Given the description of an element on the screen output the (x, y) to click on. 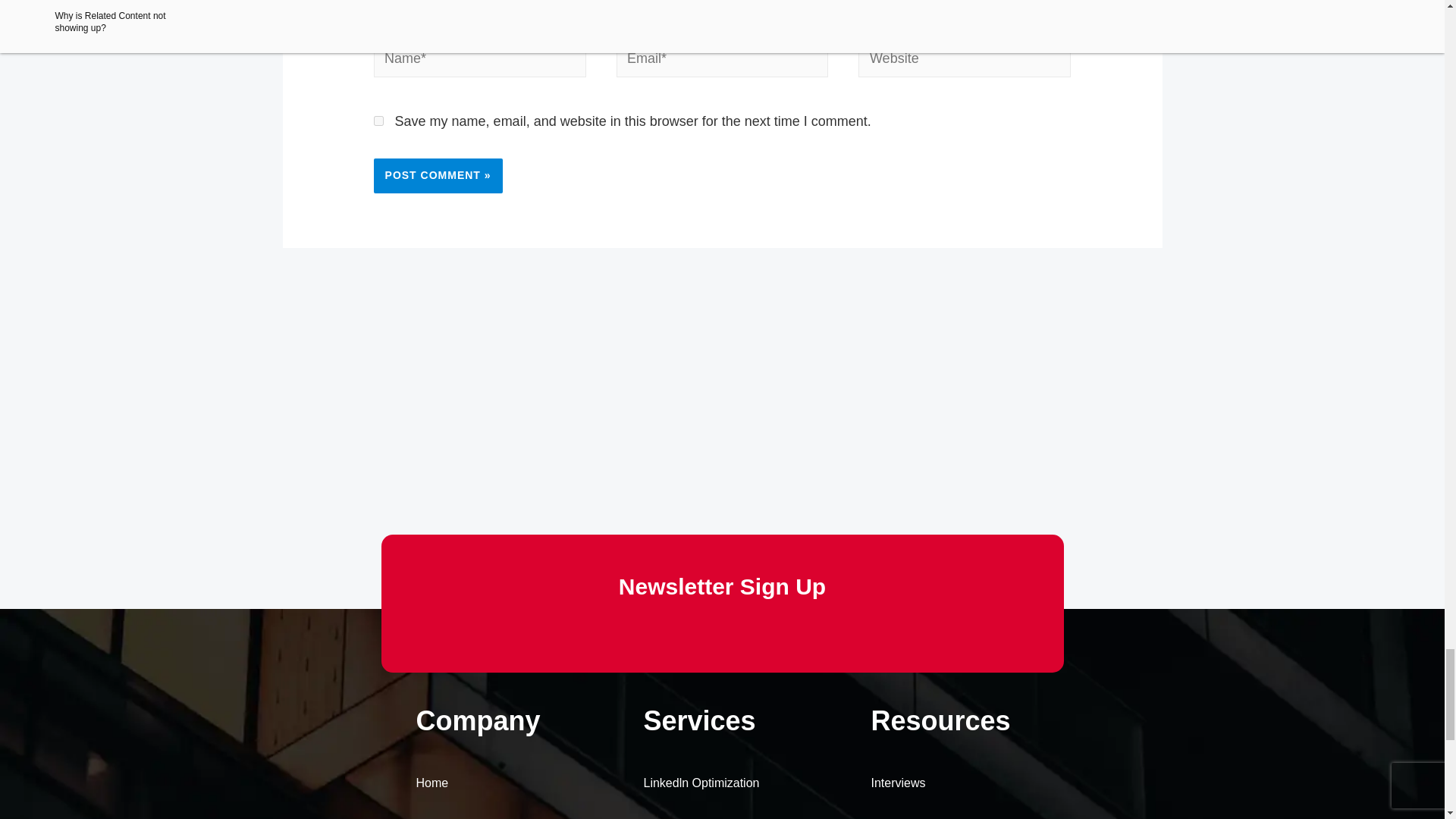
yes (379, 121)
